Given the description of an element on the screen output the (x, y) to click on. 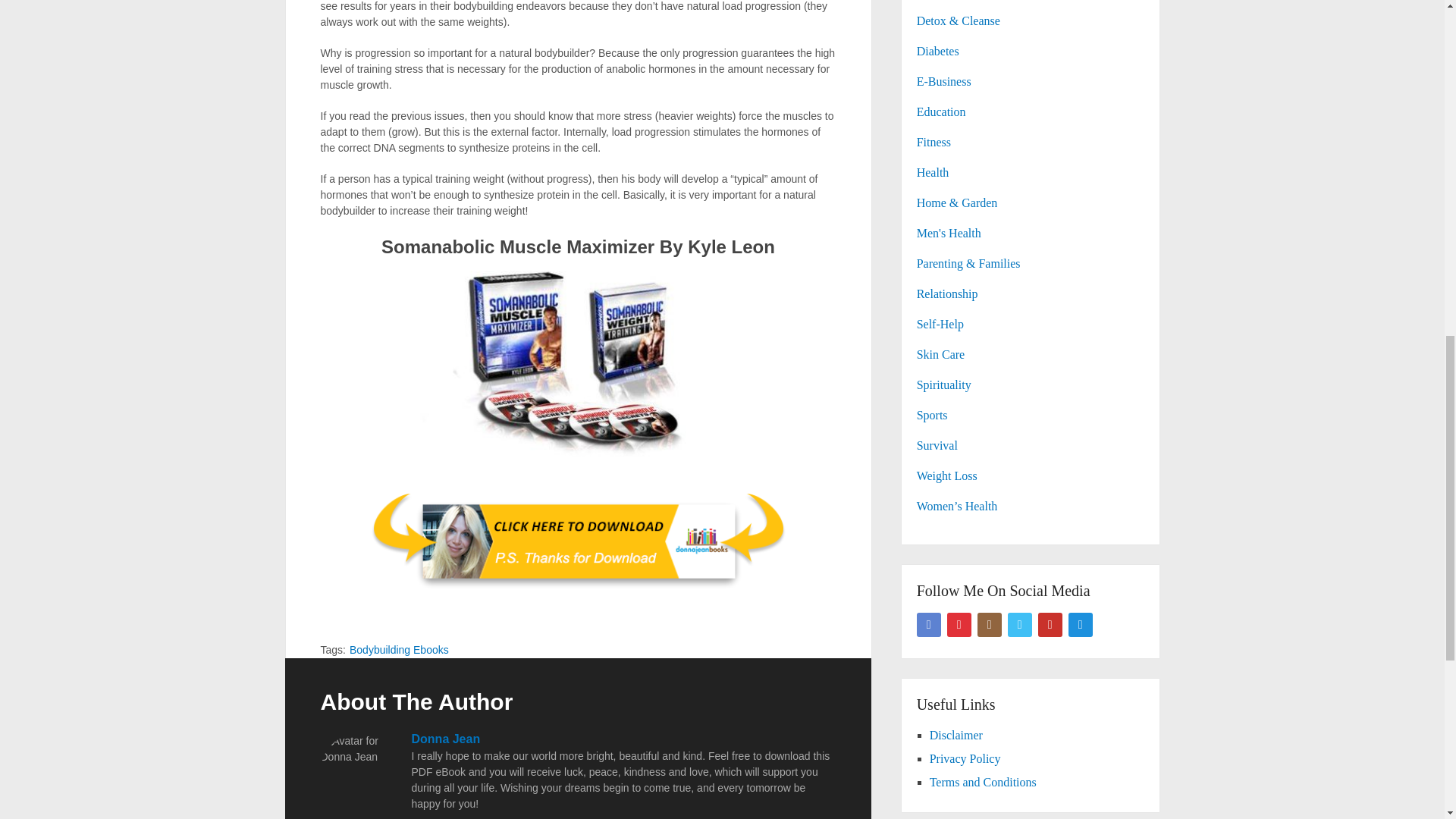
Men's Health (949, 232)
Diabetes (938, 51)
Gravatar for Donna Jean (358, 771)
E-Business (944, 81)
Donna Jean (445, 738)
Education (941, 111)
Fitness (933, 141)
Health (933, 172)
Bodybuilding Ebooks (398, 649)
